Given the description of an element on the screen output the (x, y) to click on. 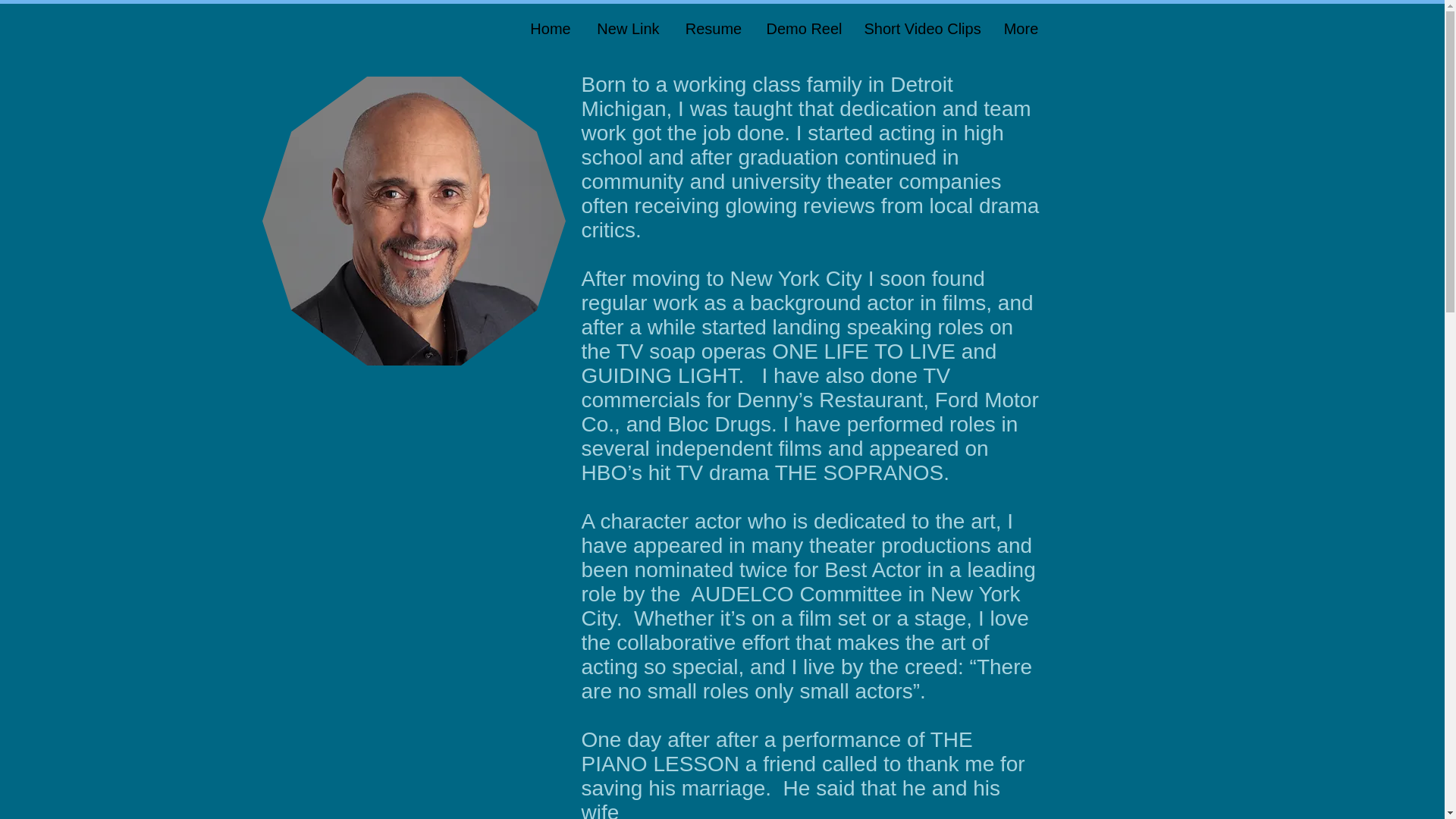
Resume (712, 28)
Short Video Clips (919, 28)
Demo Reel (804, 28)
Home (550, 28)
New Link (627, 28)
